Given the description of an element on the screen output the (x, y) to click on. 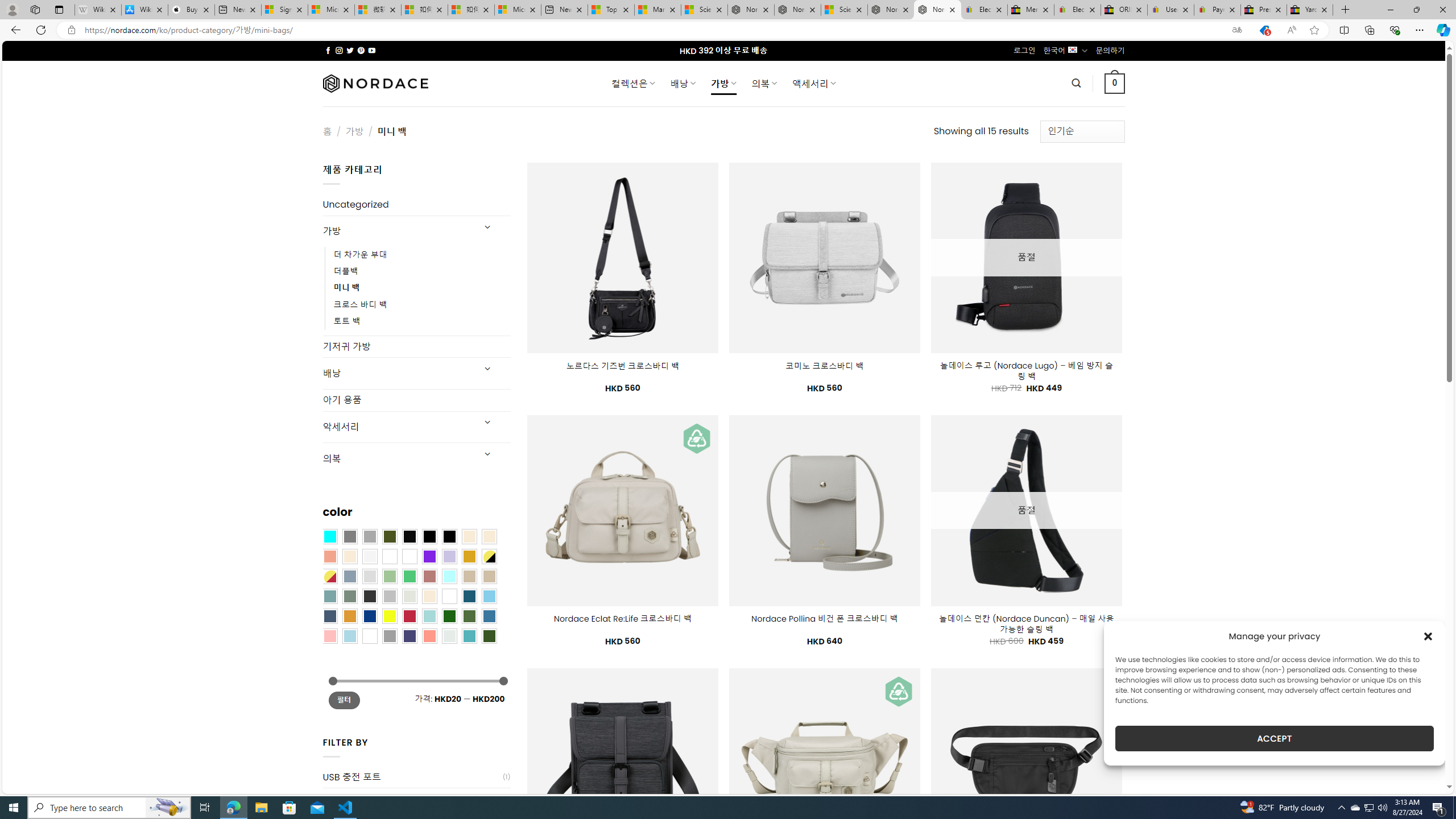
Yard, Garden & Outdoor Living (1309, 9)
Follow on Twitter (349, 50)
